Given the description of an element on the screen output the (x, y) to click on. 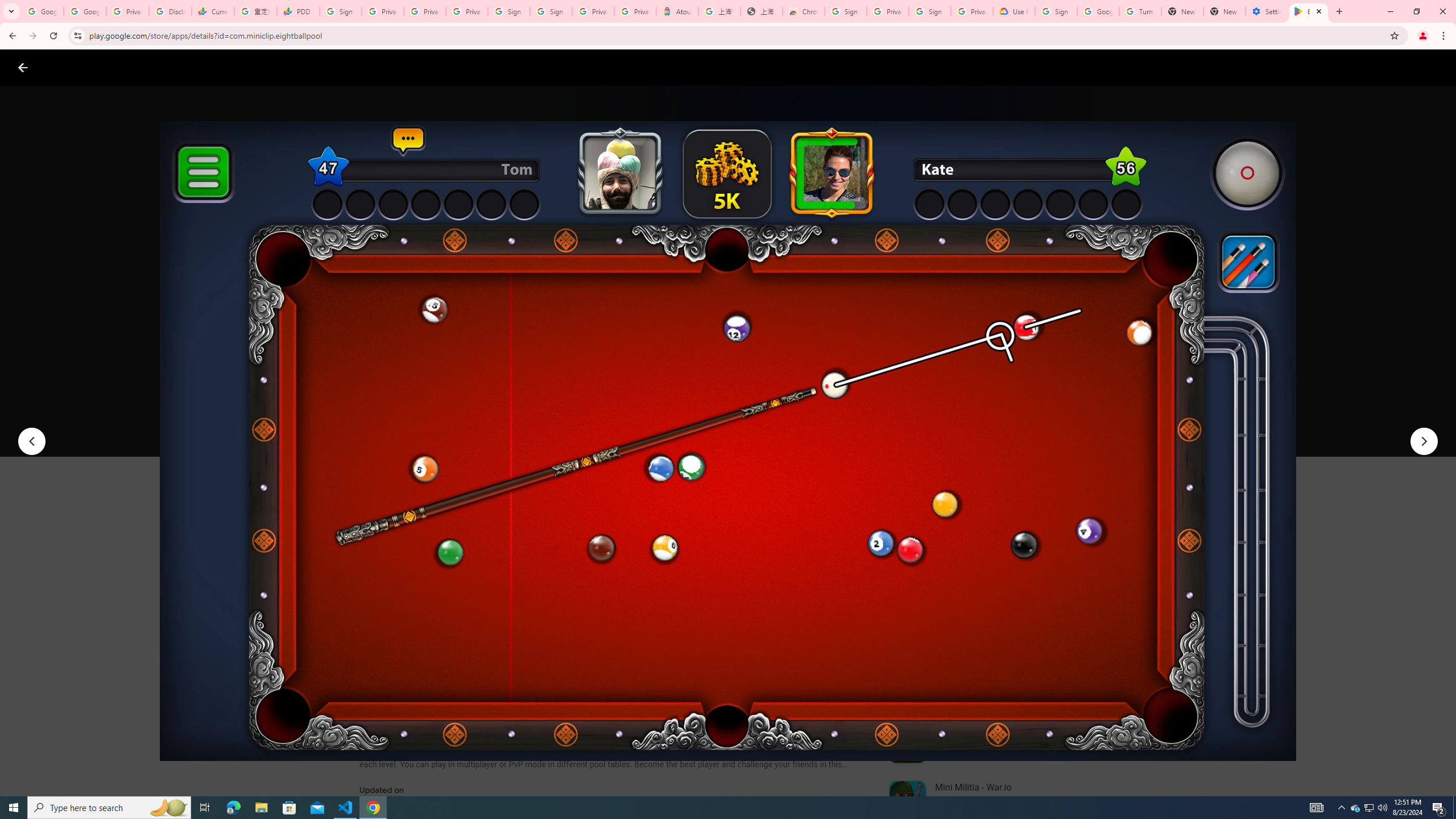
Google Account Help (1097, 11)
Share (506, 422)
Privacy Checkup (467, 11)
More info about this content rating (575, 385)
Games (141, 67)
Sign in - Google Accounts (340, 11)
Privacy Checkup (424, 11)
Chrome Web Store - Color themes by Chrome (803, 11)
